Given the description of an element on the screen output the (x, y) to click on. 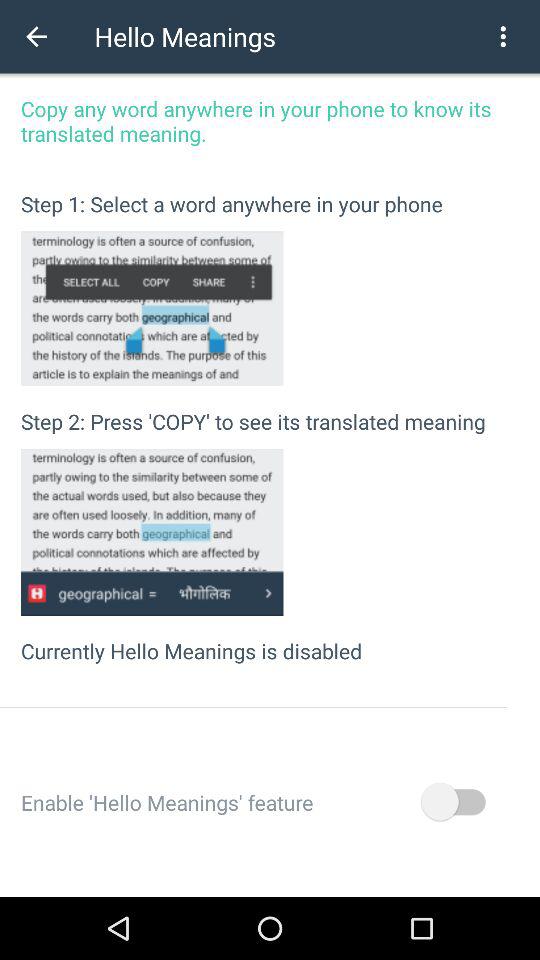
additional setting options (503, 36)
